Given the description of an element on the screen output the (x, y) to click on. 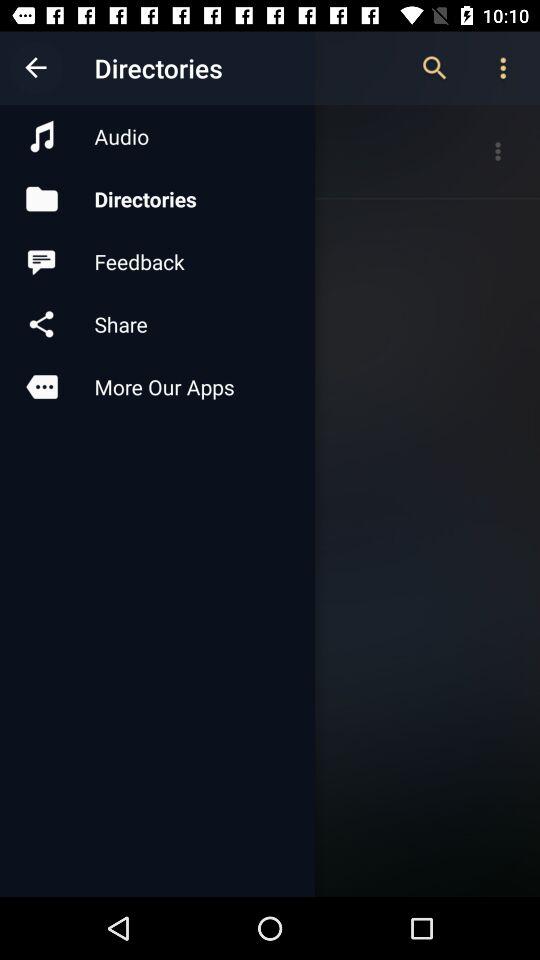
turn on the share icon (157, 323)
